Given the description of an element on the screen output the (x, y) to click on. 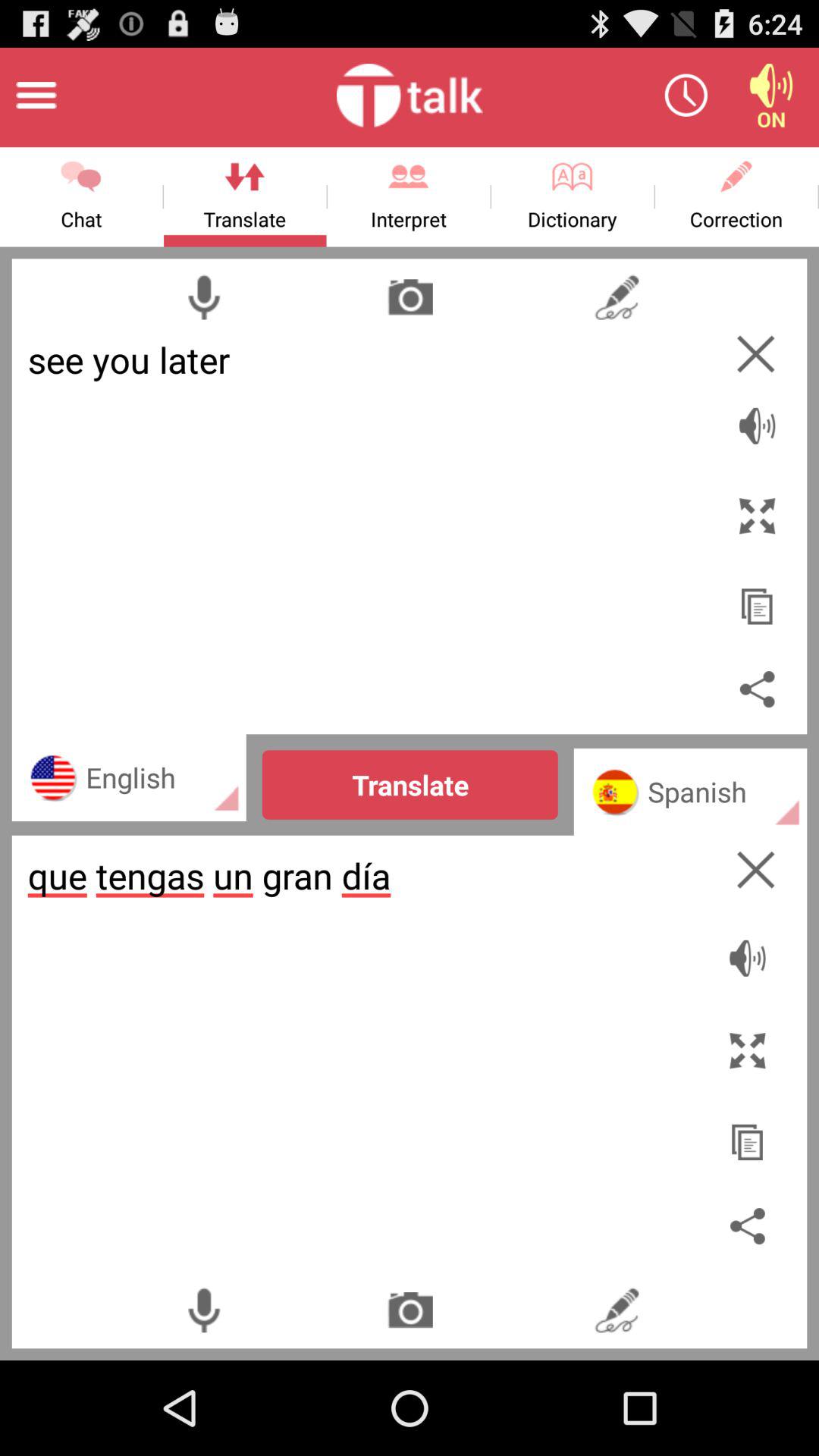
edit the chat (616, 1309)
